Given the description of an element on the screen output the (x, y) to click on. 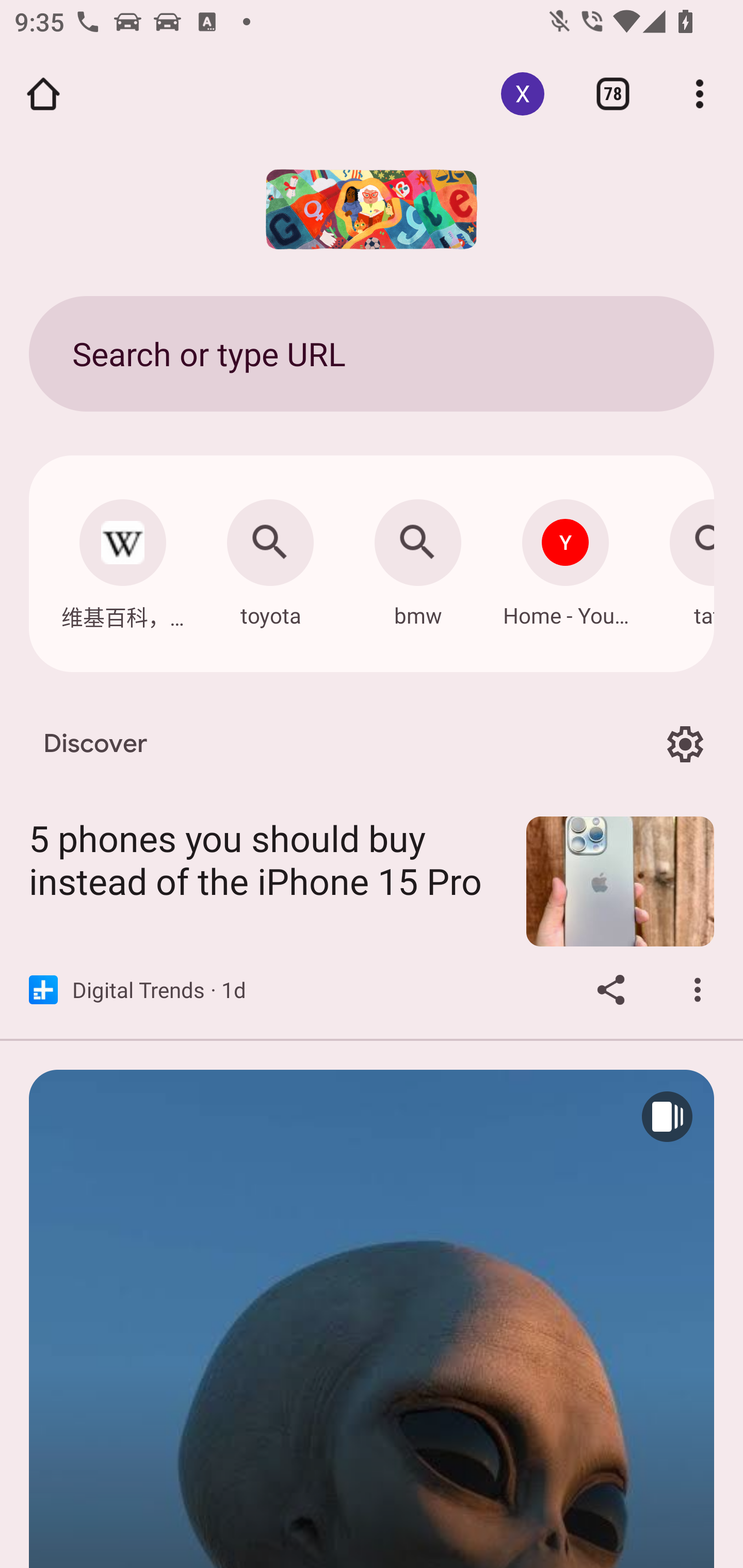
Open the home page (43, 93)
Switch or close tabs (612, 93)
Customize and control Google Chrome (699, 93)
Google doodle: International Women's Day 2024 (371, 209)
Search or type URL (371, 353)
Search: toyota toyota (270, 558)
Search: bmw bmw (417, 558)
Options for Discover (684, 743)
